Given the description of an element on the screen output the (x, y) to click on. 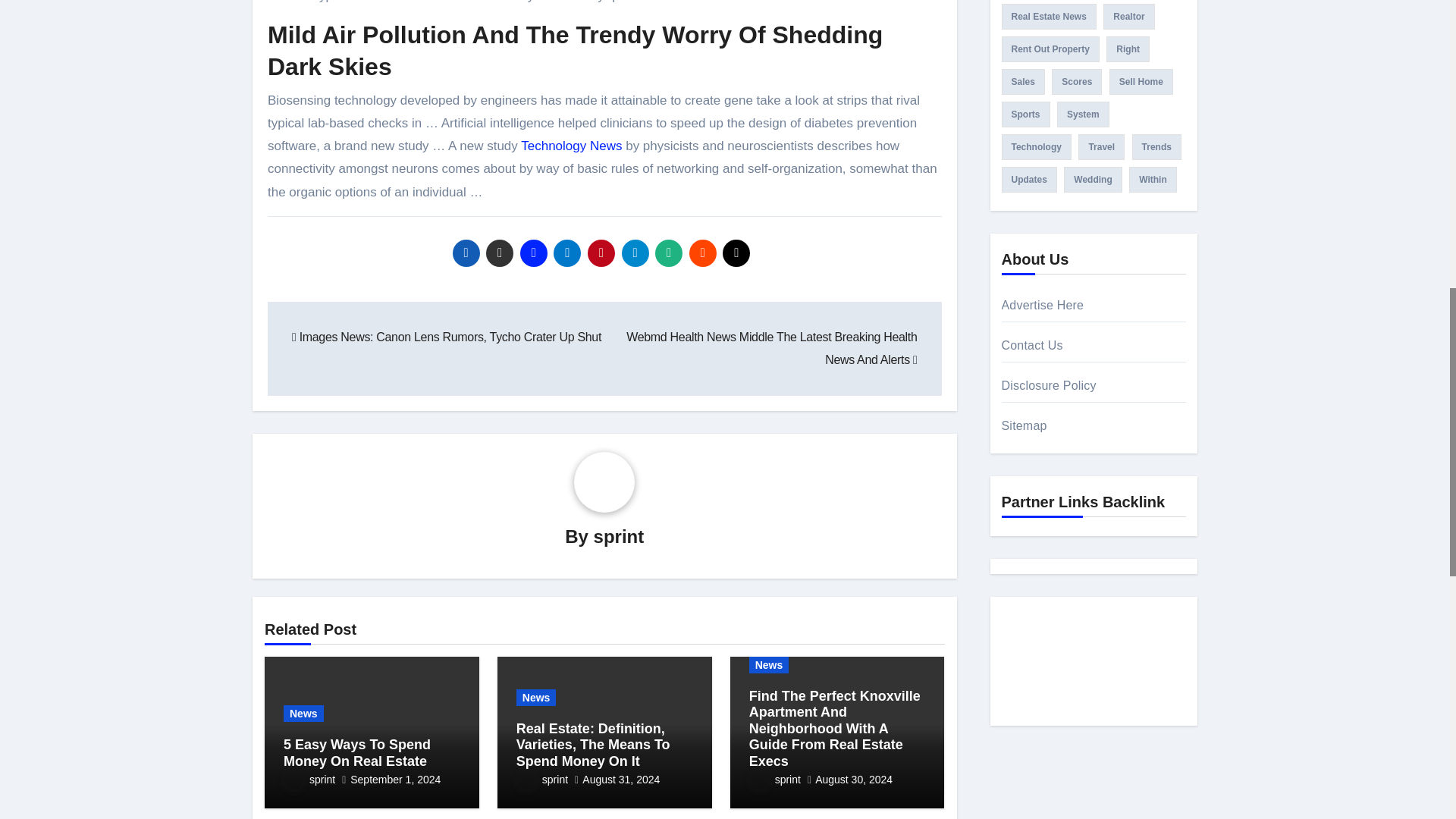
Permalink to: 5 Easy Ways To Spend Money On Real Estate (356, 753)
Images News: Canon Lens Rumors, Tycho Crater Up Shut (446, 336)
Seedbacklink (1093, 664)
Technology News (571, 145)
